Given the description of an element on the screen output the (x, y) to click on. 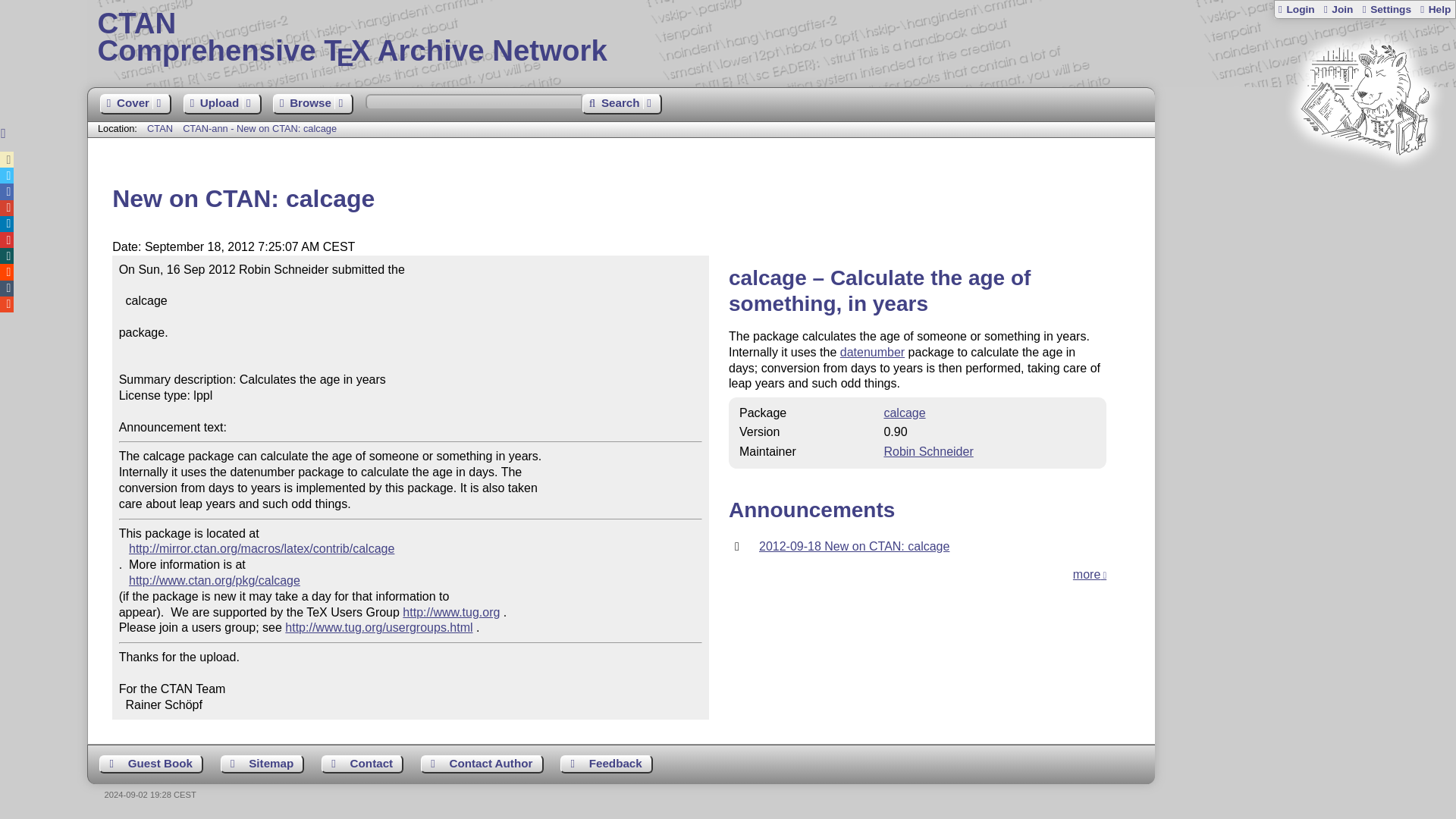
datenumber (872, 351)
Send feedback on the current web page to the Web masters (606, 764)
Login with your personal account (1296, 8)
Login (1296, 8)
Get help on how to contact an author (481, 764)
Get some information about this Web site (1434, 8)
Cover (135, 104)
Register a new personal account on this site (1337, 8)
2012-09-18 New on CTAN: calcage (853, 545)
CTAN-ann - New on CTAN: calcage (259, 128)
